Given the description of an element on the screen output the (x, y) to click on. 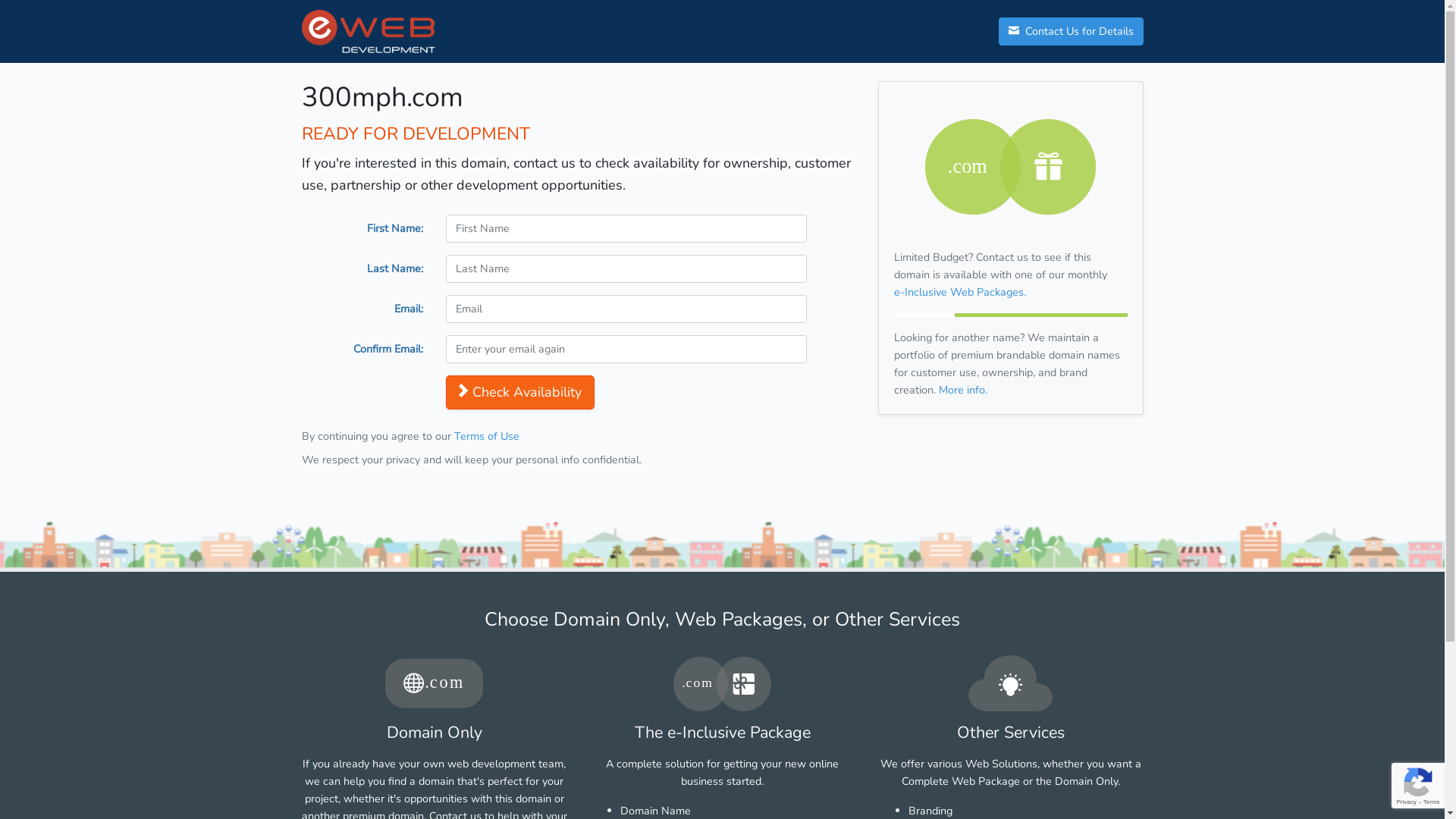
e-Inclusive Web Packages. Element type: text (959, 291)
More info. Element type: text (962, 389)
Check Availability Element type: text (519, 392)
Contact Us for Details Element type: text (1069, 31)
Terms of Use Element type: text (485, 435)
